Given the description of an element on the screen output the (x, y) to click on. 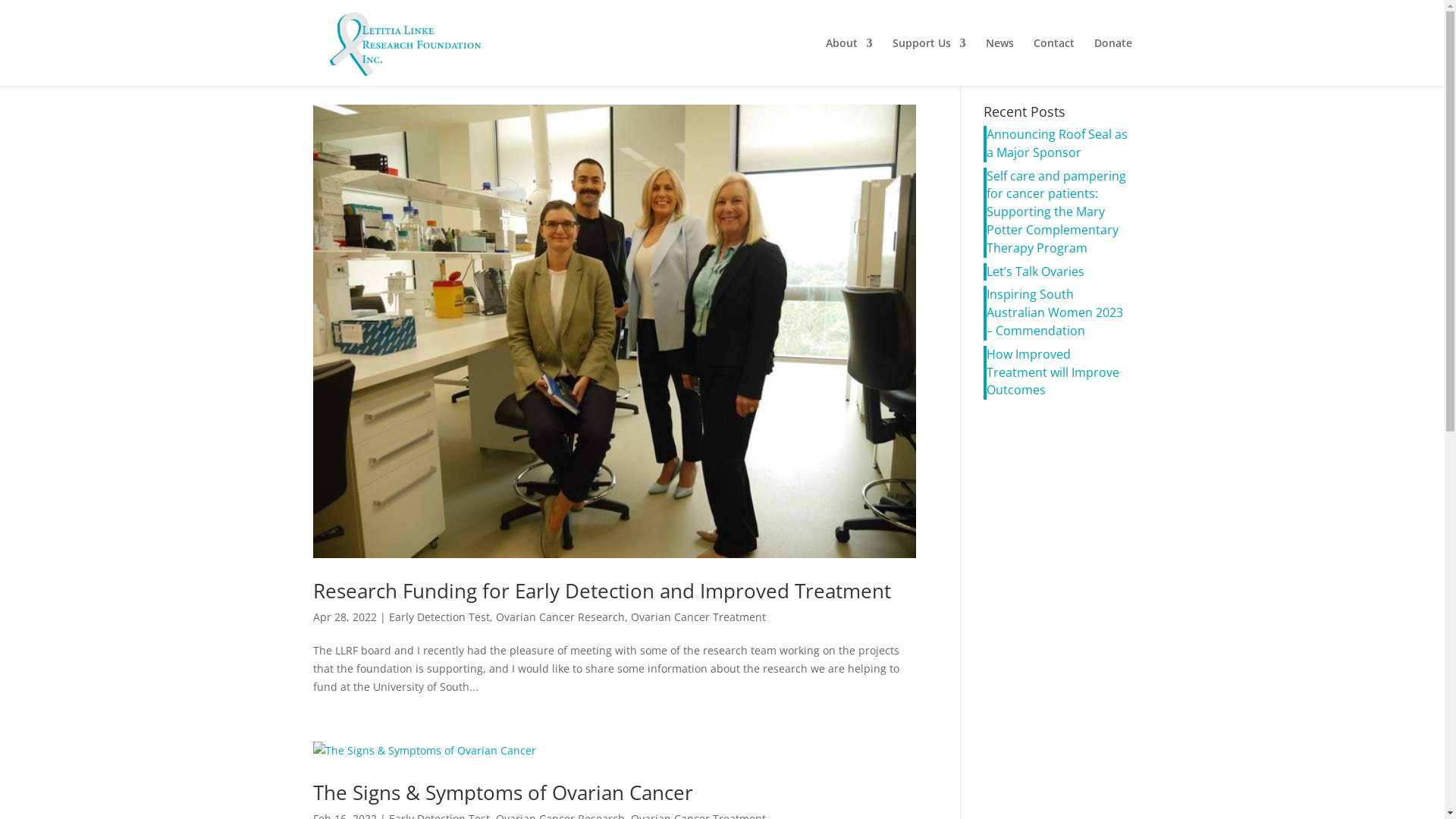
Early Detection Test Element type: text (438, 616)
News Element type: text (999, 61)
Support Us Element type: text (928, 61)
The Signs & Symptoms of Ovarian Cancer Element type: text (502, 792)
Ovarian Cancer Treatment Element type: text (697, 616)
Donate Element type: text (1112, 61)
Ovarian Cancer Research Element type: text (559, 616)
Announcing Roof Seal as a Major Sponsor Element type: text (1058, 143)
About Element type: text (848, 61)
How Improved Treatment will Improve Outcomes Element type: text (1058, 372)
Research Funding for Early Detection and Improved Treatment Element type: text (601, 590)
Contact Element type: text (1052, 61)
